Given the description of an element on the screen output the (x, y) to click on. 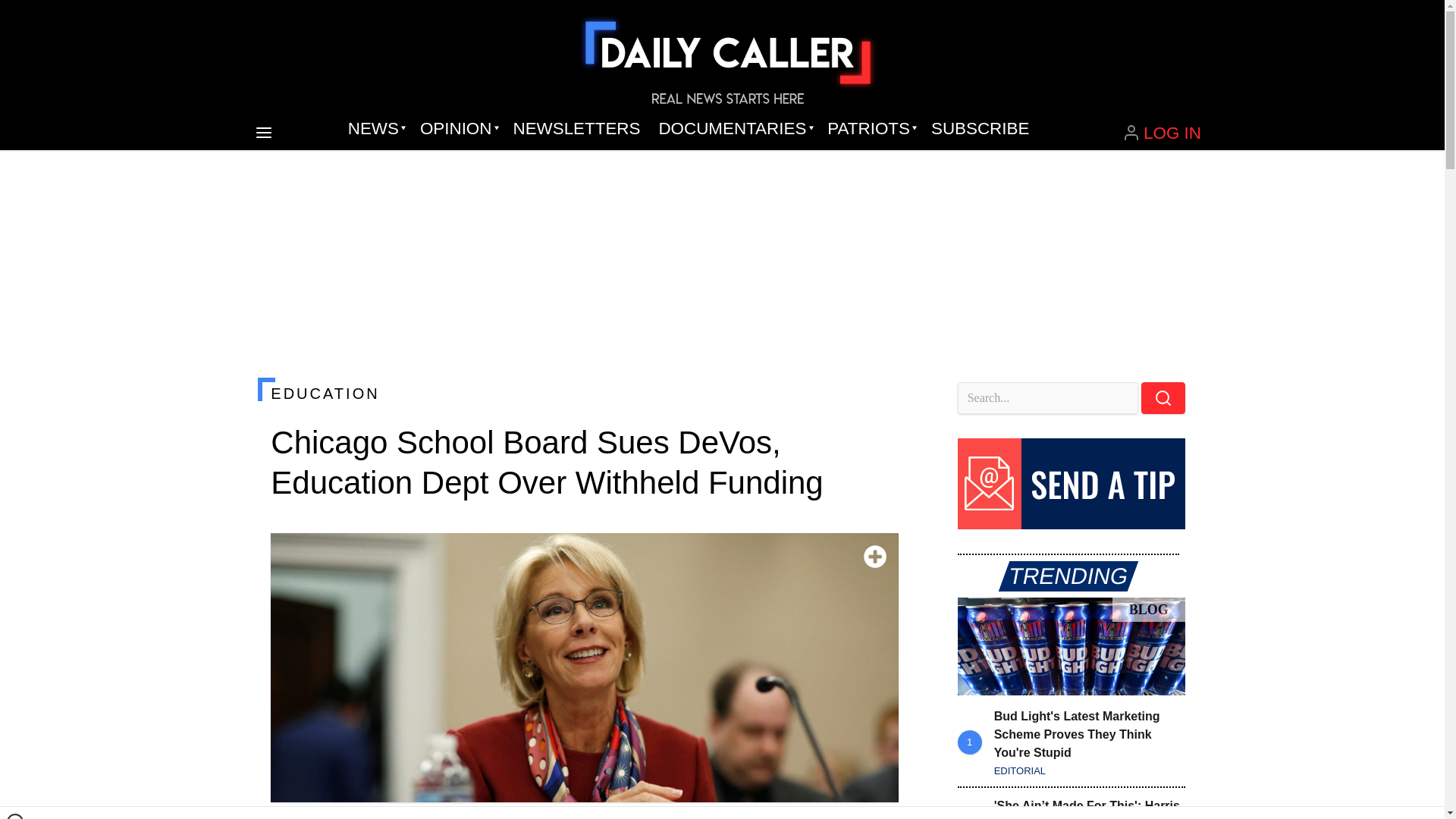
NEWS (374, 128)
OPINION (456, 128)
SUBSCRIBE (979, 128)
PATRIOTS (869, 128)
Toggle fullscreen (874, 556)
NEWSLETTERS (576, 128)
DOCUMENTARIES (733, 128)
Close window (14, 816)
